Given the description of an element on the screen output the (x, y) to click on. 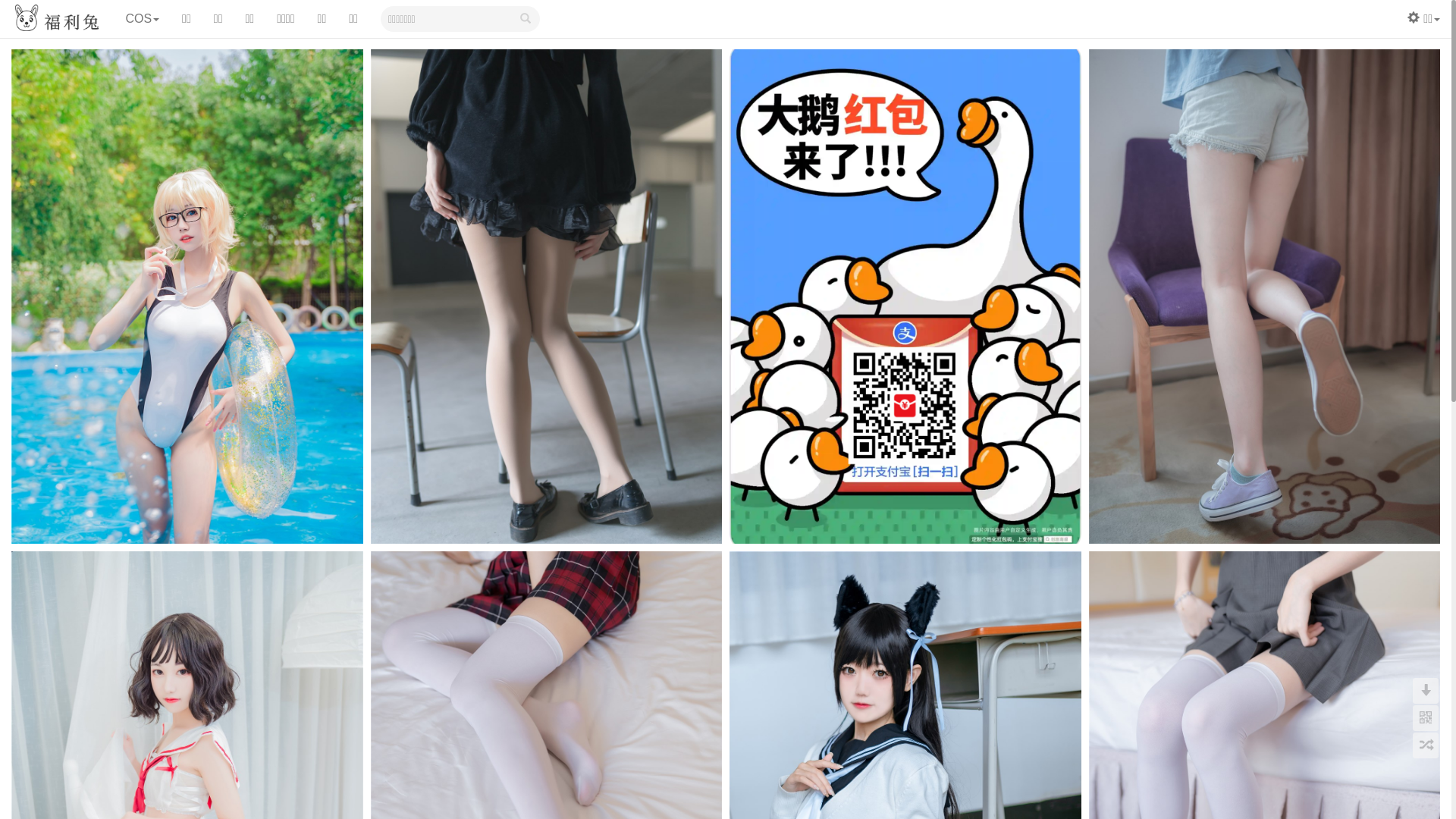
0 Element type: text (1425, 745)
COS Element type: text (141, 18)
0 Element type: text (1425, 718)
